Given the description of an element on the screen output the (x, y) to click on. 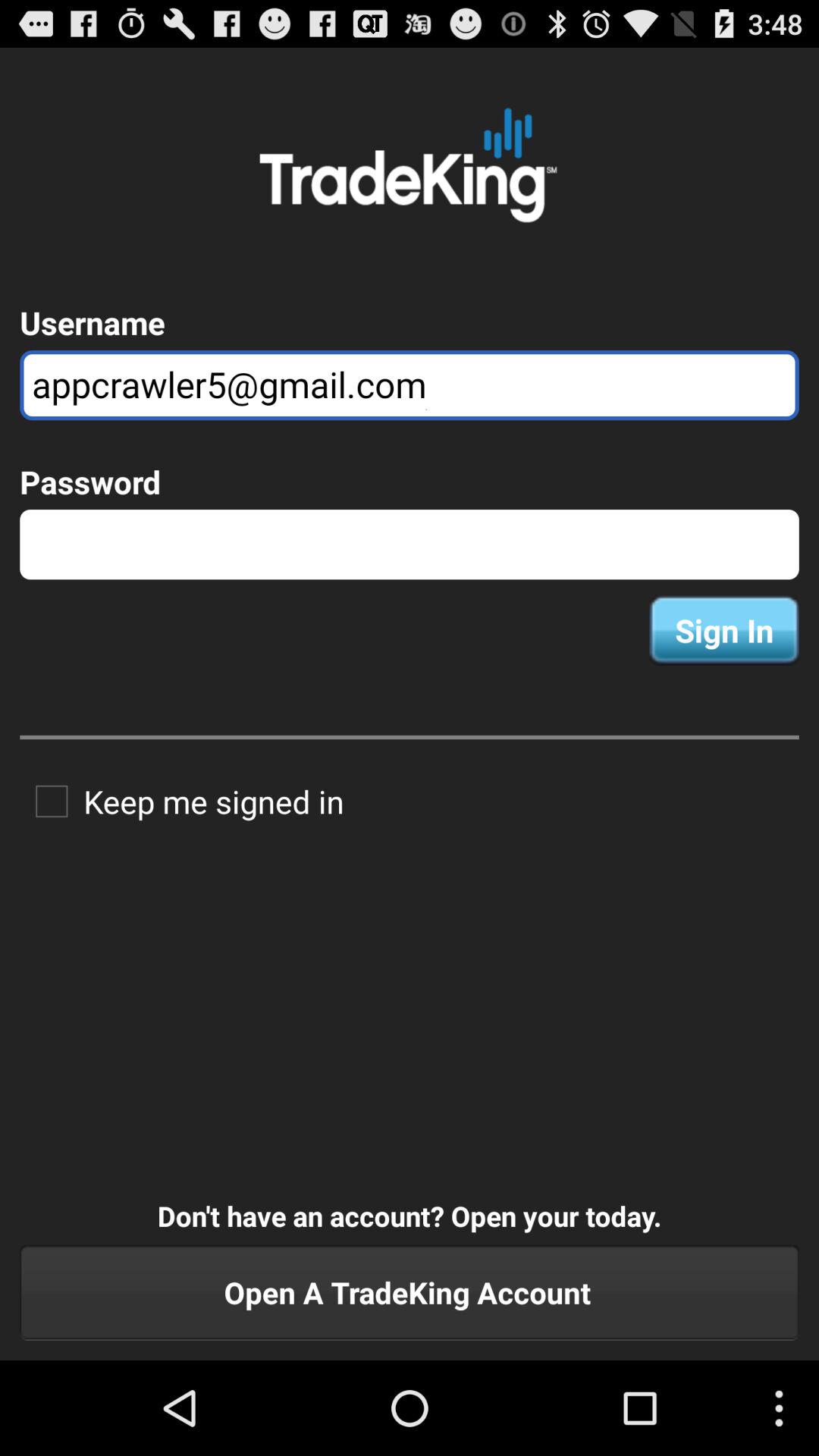
click the keep me signed item (181, 801)
